Given the description of an element on the screen output the (x, y) to click on. 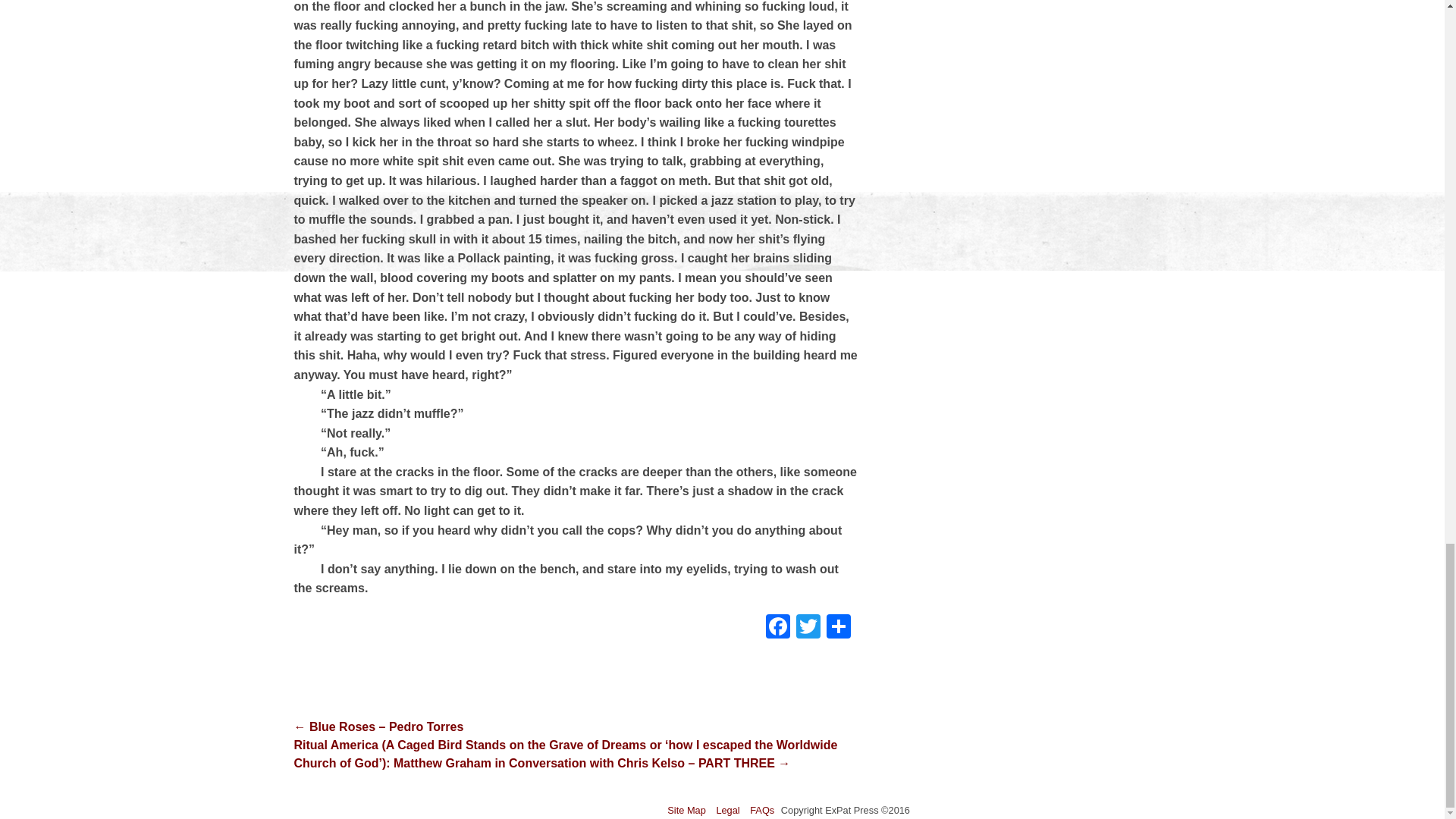
Facebook (777, 628)
Facebook (777, 628)
Twitter (808, 628)
Legal (727, 809)
Twitter (808, 628)
Site Map (686, 809)
FAQs (761, 809)
